Given the description of an element on the screen output the (x, y) to click on. 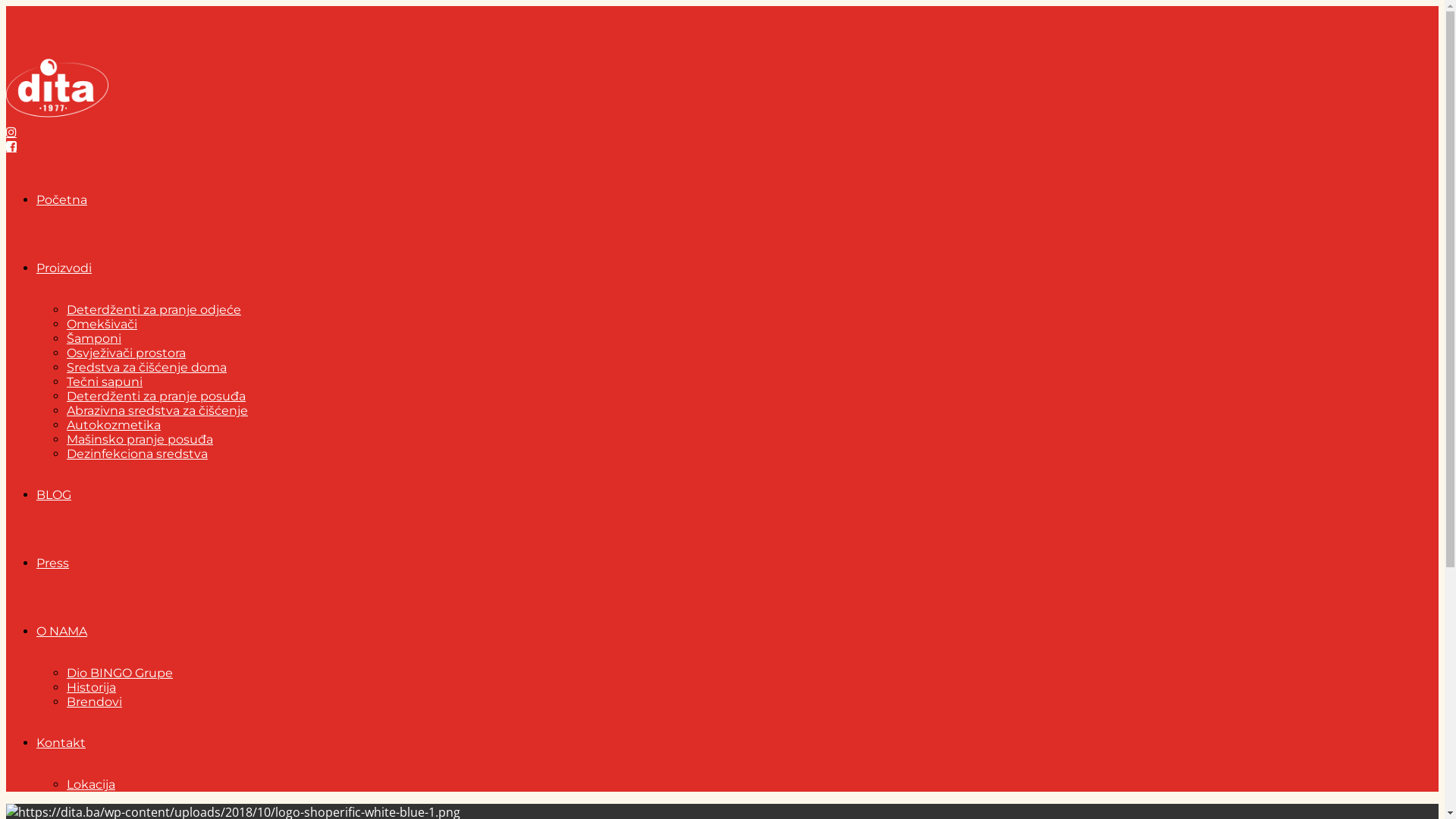
Lokacija Element type: text (90, 784)
Dio BINGO Grupe Element type: text (119, 672)
Kontakt Element type: text (60, 742)
Brendovi Element type: text (94, 701)
BLOG Element type: text (53, 494)
Press Element type: text (52, 562)
Autokozmetika Element type: text (113, 424)
Historija Element type: text (91, 687)
Dezinfekciona sredstva Element type: text (136, 453)
Proizvodi Element type: text (63, 267)
O NAMA Element type: text (61, 631)
